Given the description of an element on the screen output the (x, y) to click on. 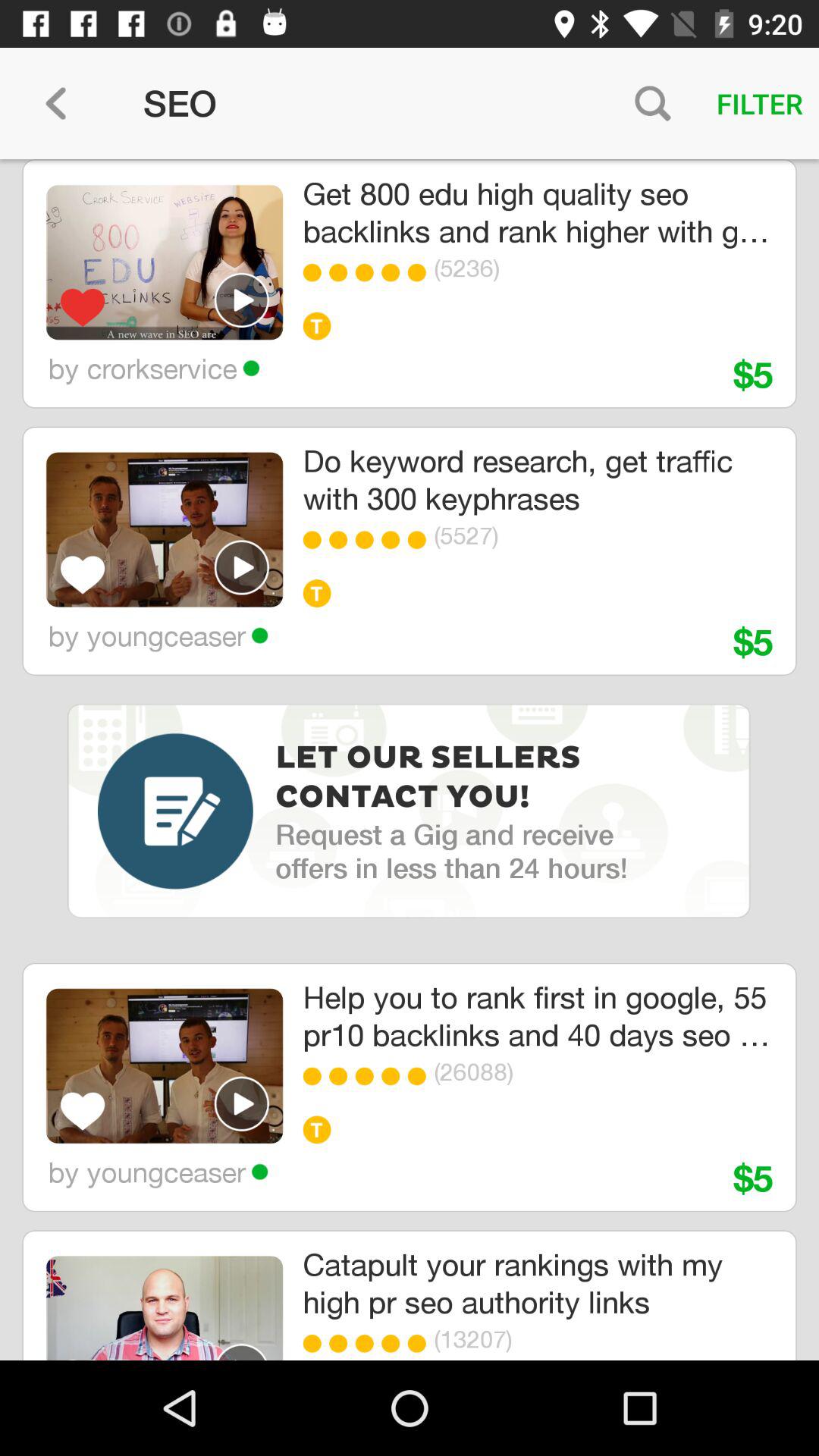
play video (242, 1351)
